Given the description of an element on the screen output the (x, y) to click on. 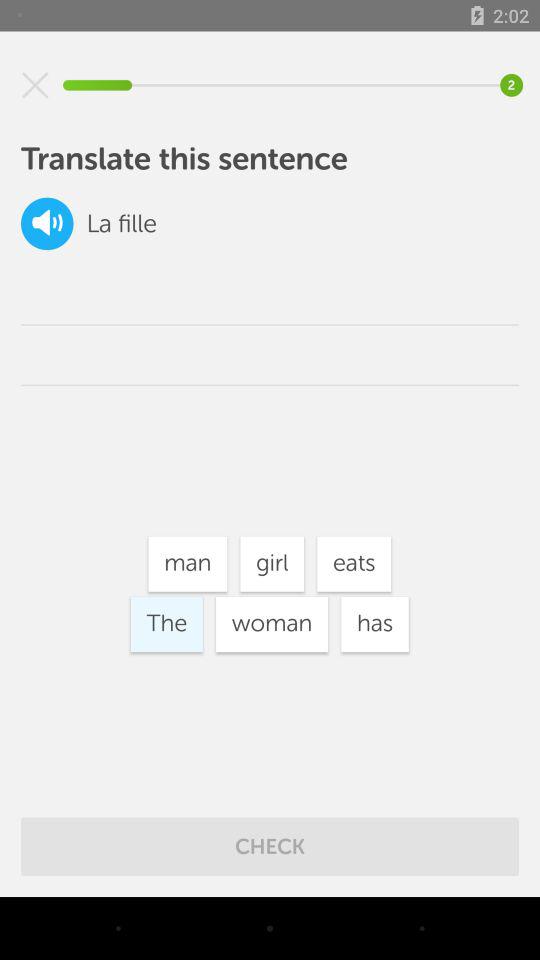
flip until man item (187, 563)
